Given the description of an element on the screen output the (x, y) to click on. 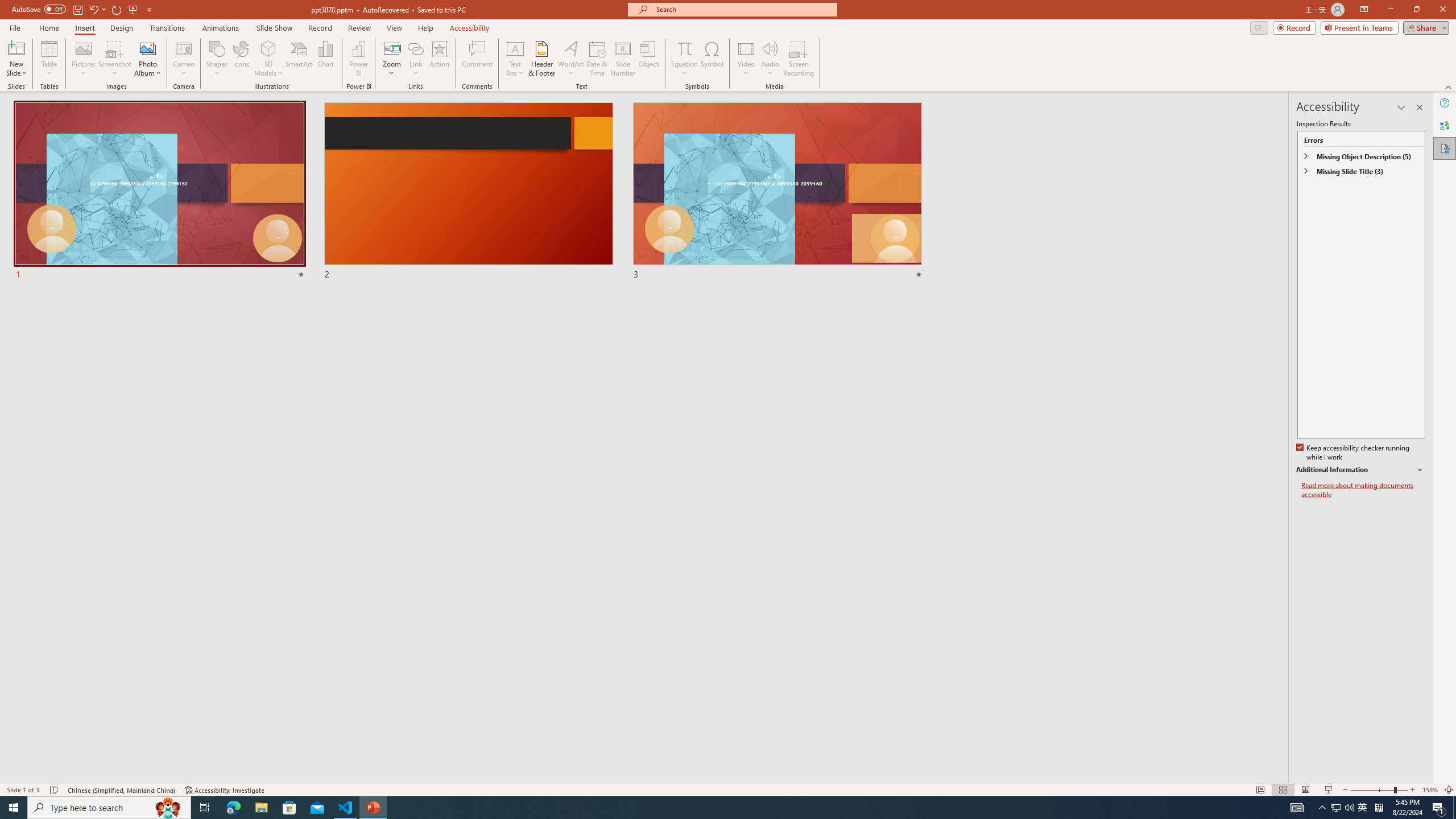
Screen Recording... (798, 58)
Draw Horizontal Text Box (515, 48)
New Photo Album... (147, 48)
Chart... (325, 58)
Power BI (358, 58)
